Given the description of an element on the screen output the (x, y) to click on. 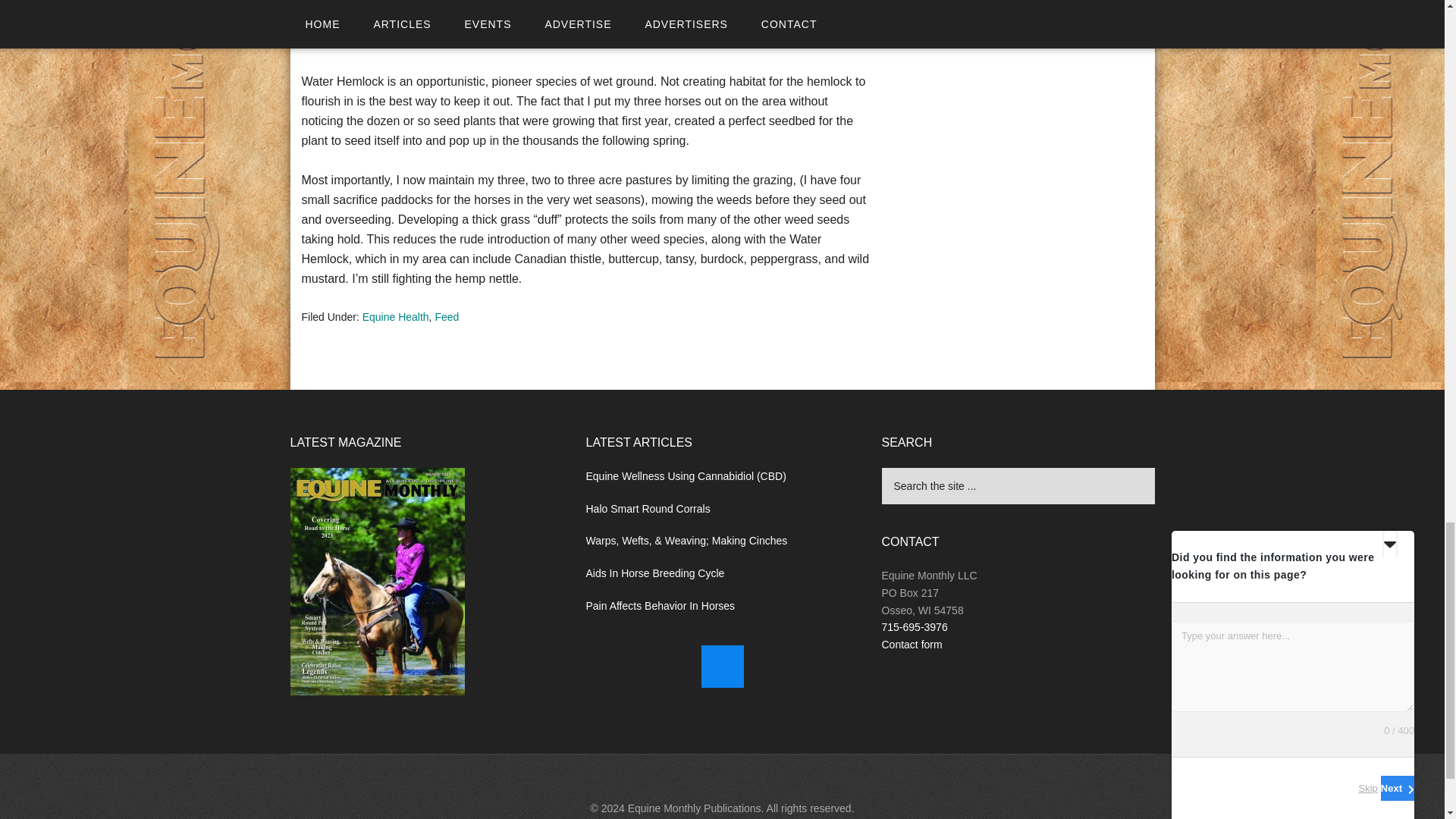
Pain Affects Behavior In Horses (660, 605)
Halo Smart Round Corrals (647, 508)
Contact form (911, 644)
Equine Health (395, 316)
Feed (445, 316)
715-695-3976 (913, 626)
Aids In Horse Breeding Cycle (654, 573)
